Given the description of an element on the screen output the (x, y) to click on. 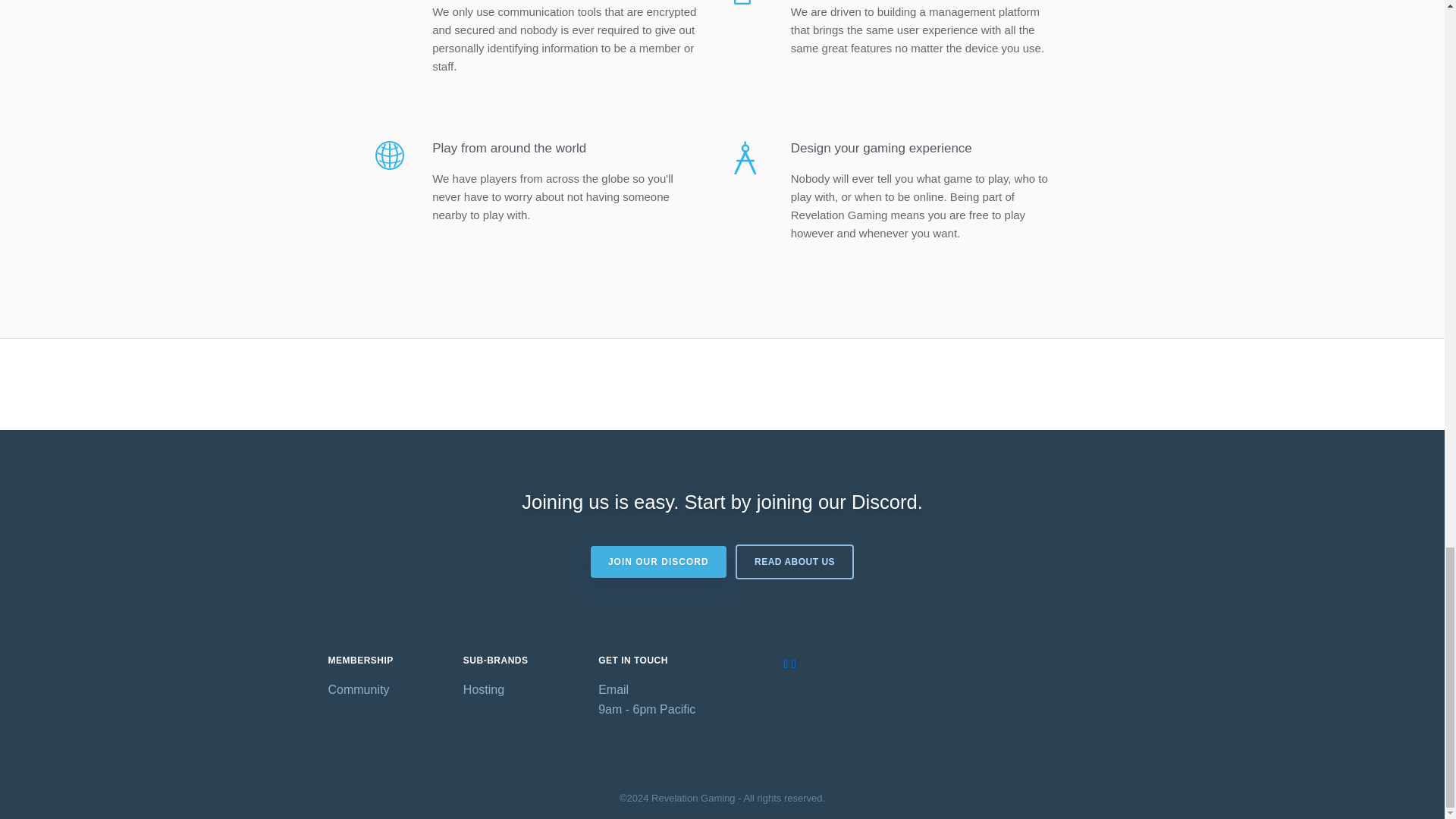
Hosting (519, 689)
Email (654, 689)
Community (383, 689)
JOIN OUR DISCORD (658, 562)
READ ABOUT US (794, 561)
